Given the description of an element on the screen output the (x, y) to click on. 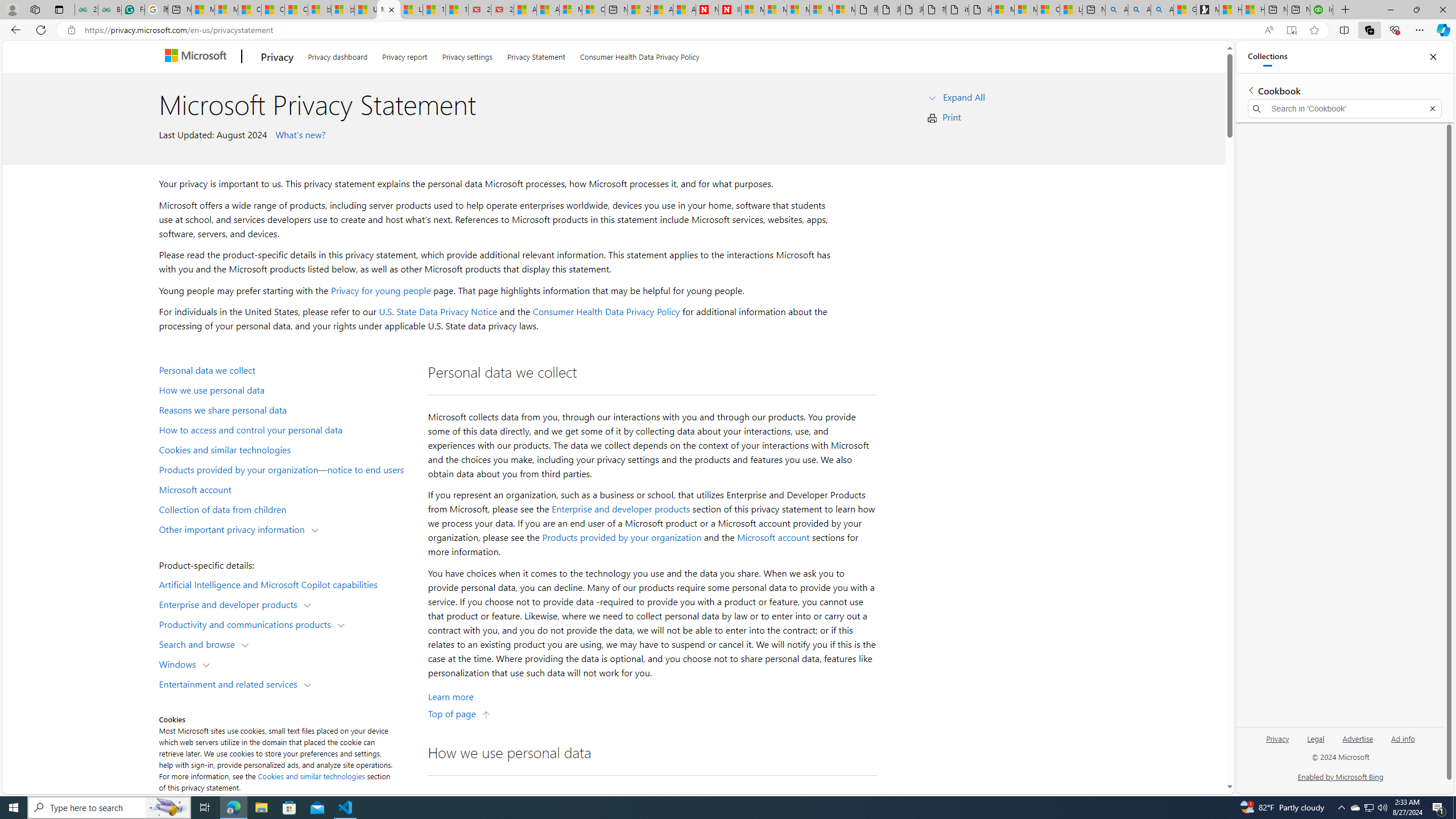
Productivity and communications products (247, 623)
Privacy settings (466, 54)
Privacy Statement (536, 54)
Cookies and similar technologies (287, 449)
25 Basic Linux Commands For Beginners - GeeksforGeeks (86, 9)
